Given the description of an element on the screen output the (x, y) to click on. 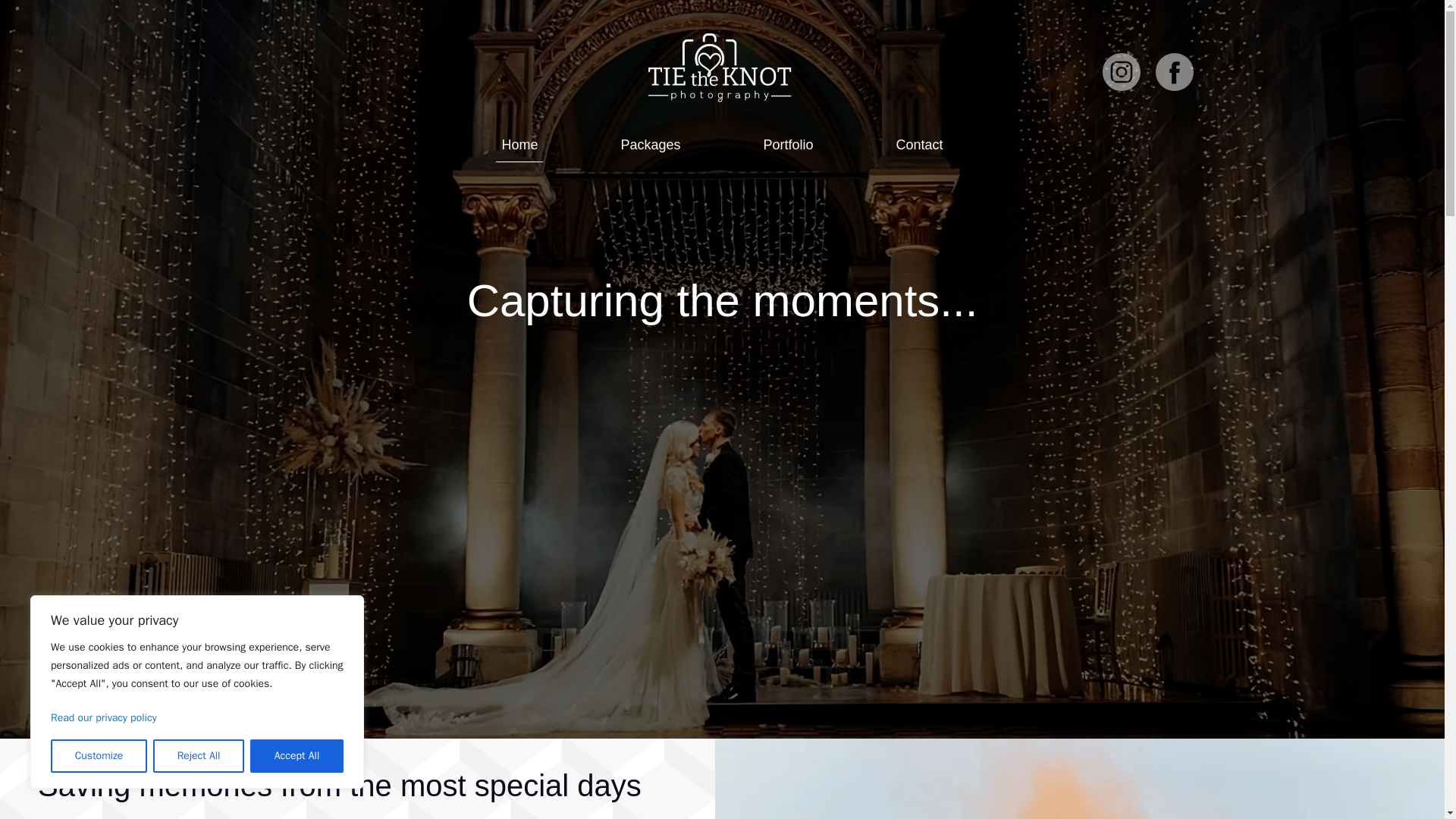
Packages (649, 144)
Home (519, 144)
Accept All (296, 756)
Contact (920, 144)
Portfolio (787, 144)
Reject All (198, 756)
Customize (98, 756)
Read our privacy policy (103, 717)
